Given the description of an element on the screen output the (x, y) to click on. 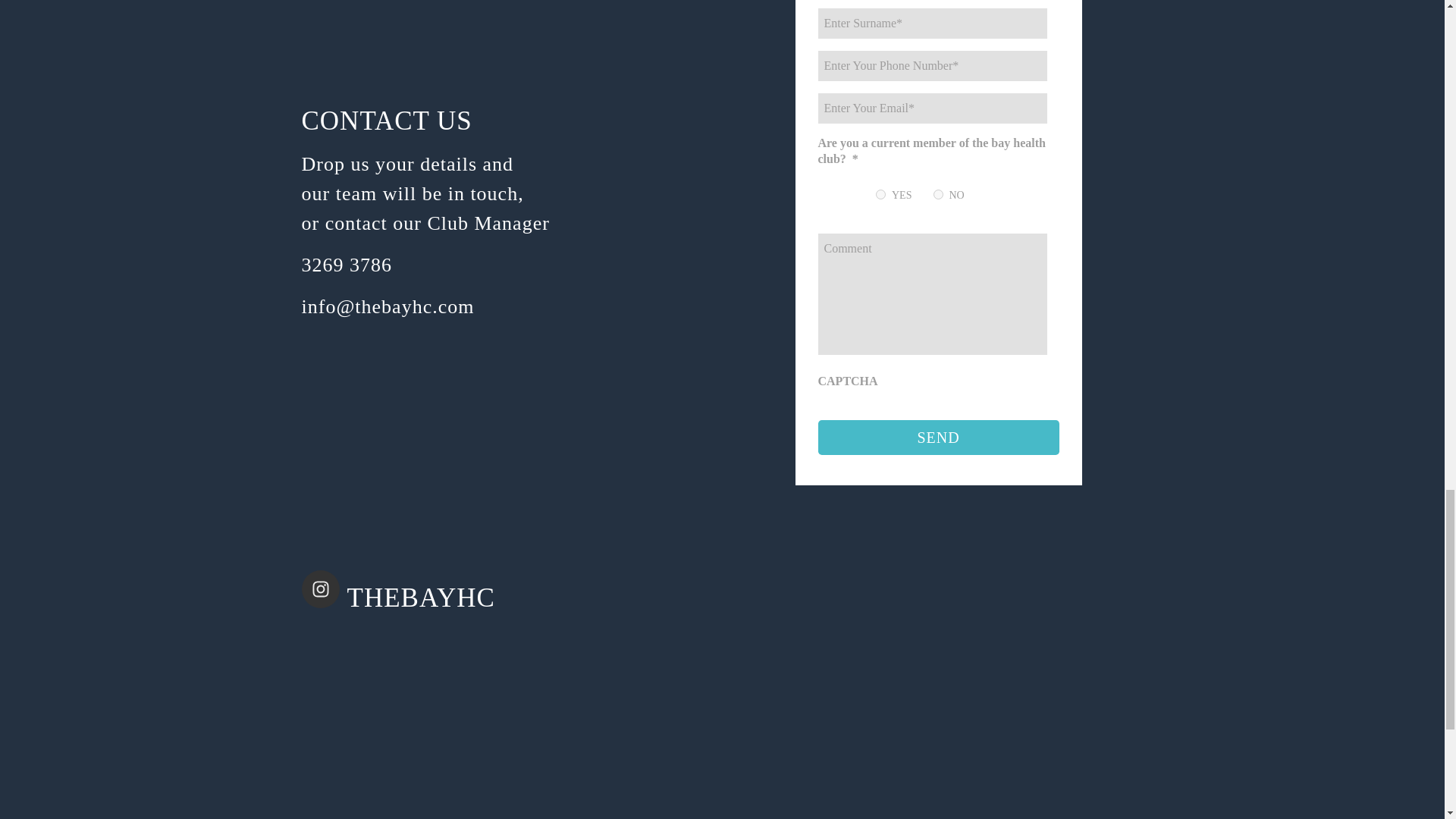
THEBAYHC (416, 592)
NO (937, 194)
Send (937, 437)
Send (937, 437)
3269 3786 (347, 264)
YES (880, 194)
